Given the description of an element on the screen output the (x, y) to click on. 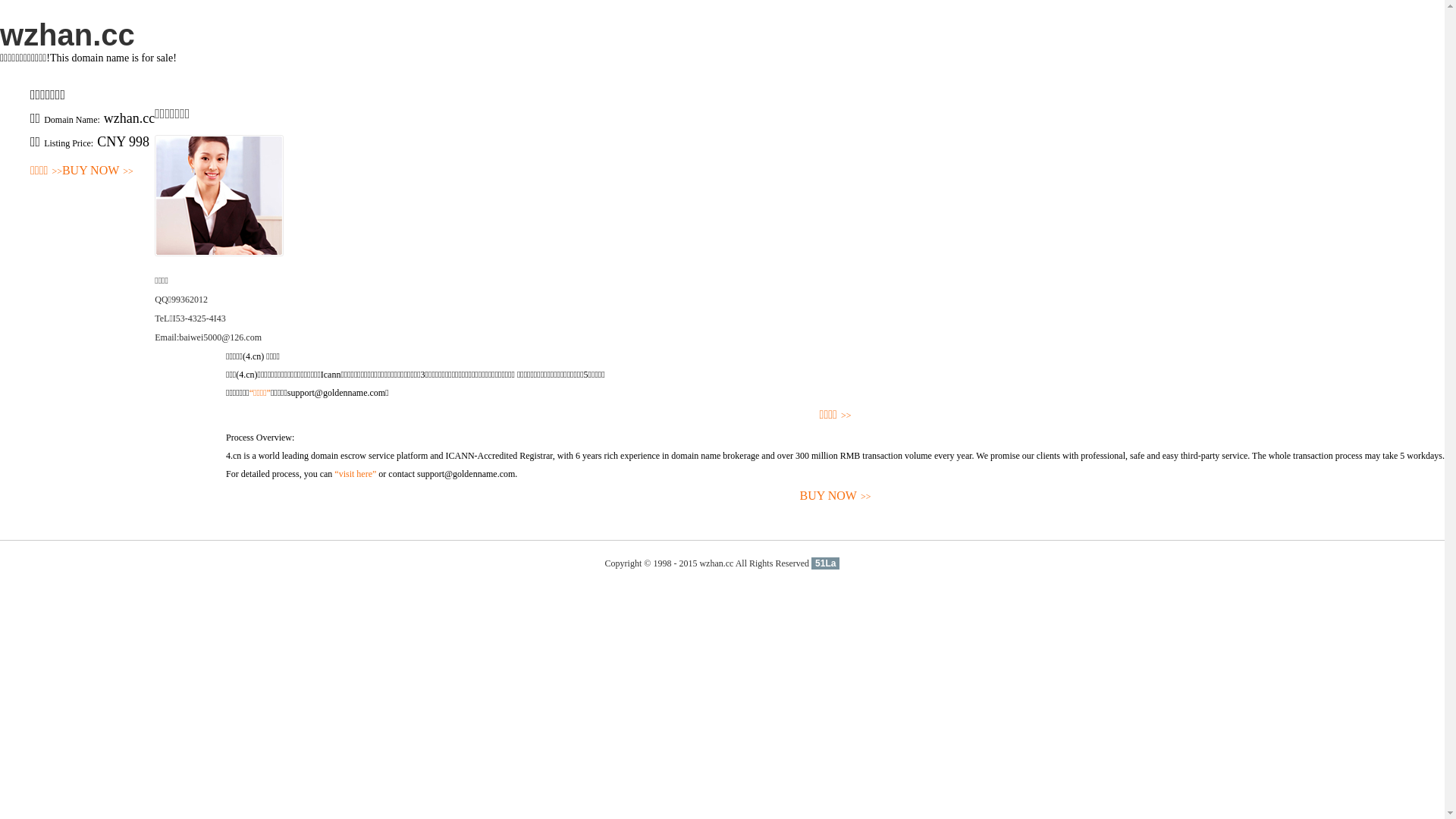
BUY NOW>> Element type: text (834, 496)
BUY NOW>> Element type: text (97, 170)
51La Element type: text (825, 563)
